Given the description of an element on the screen output the (x, y) to click on. 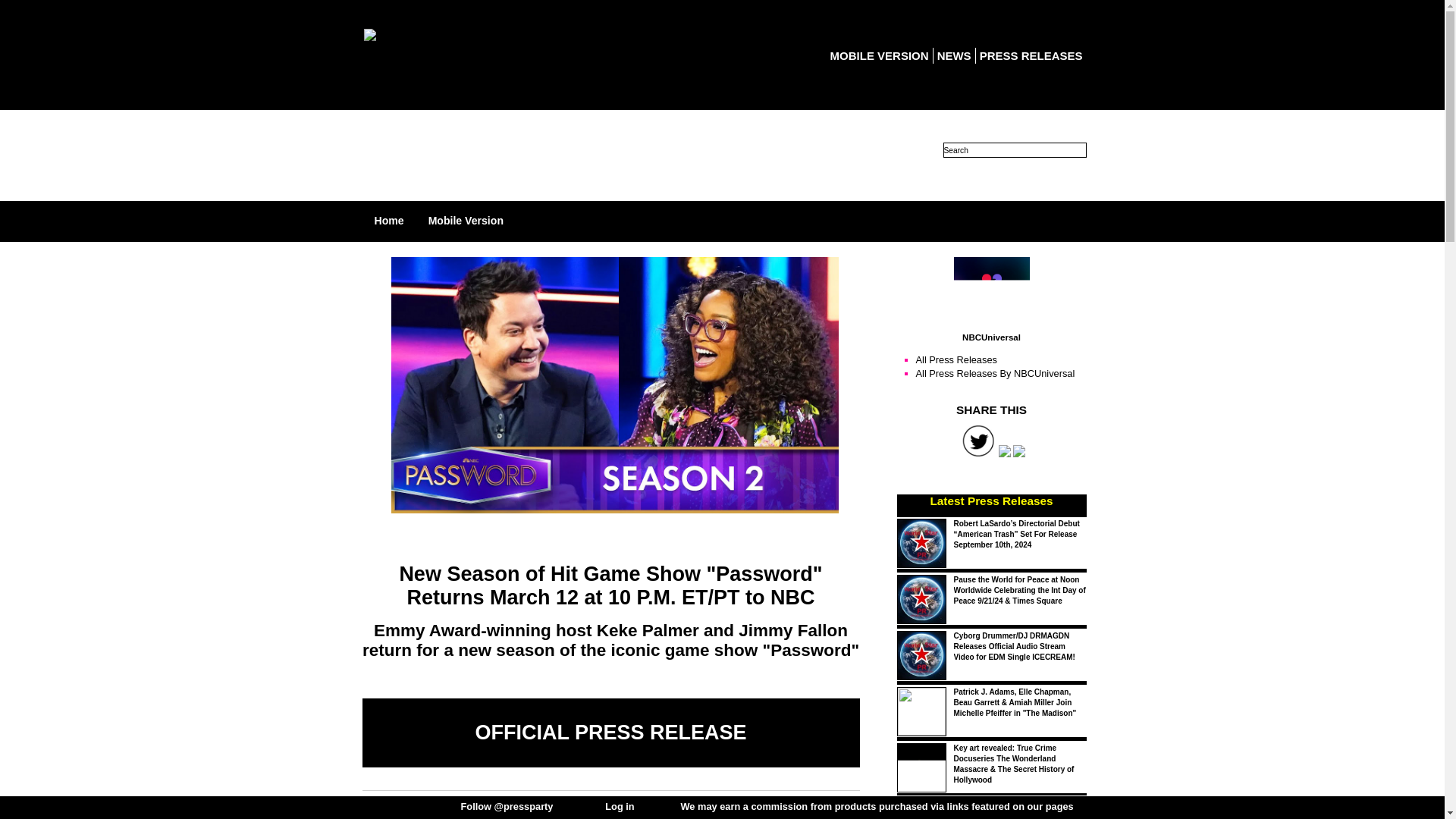
PRESS RELEASES (1031, 55)
All Press Releases By NBCUniversal (995, 373)
All Press Releases (956, 359)
NEWS (954, 55)
Search (1014, 150)
"I Am Georgina" Season 3 - Official Trailer - Netflix (1016, 809)
Mobile Version (465, 220)
Search (1014, 150)
Home (389, 220)
NBCUniversal (991, 294)
